Given the description of an element on the screen output the (x, y) to click on. 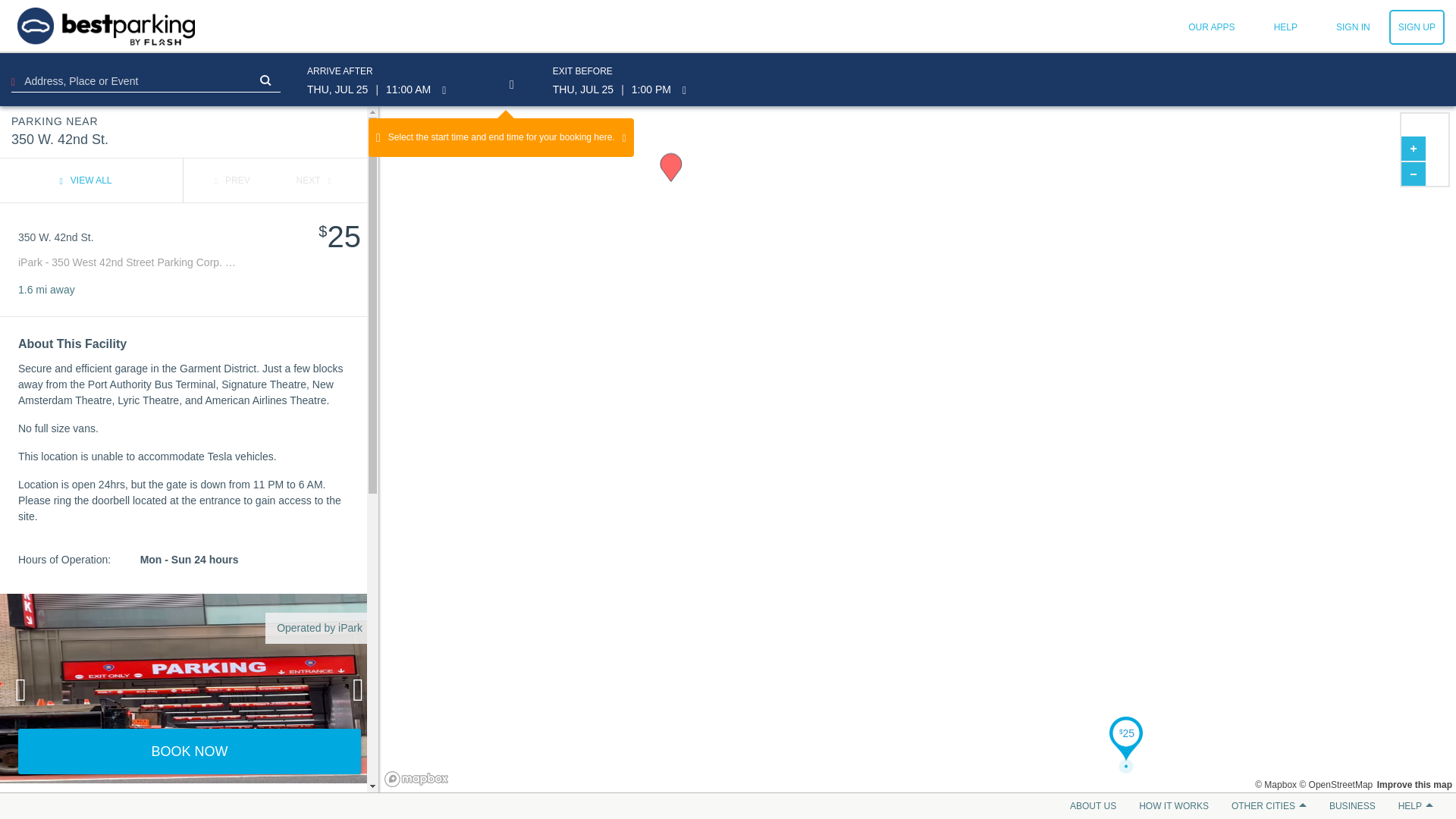
VIEW ALL (84, 180)
SIGN IN (1352, 27)
PREV (231, 180)
OUR APPS (1210, 27)
BestParking (105, 26)
Improve this map (1414, 784)
Zoom out (1412, 173)
Help (1285, 27)
Improve this map (1414, 784)
HELP (1285, 27)
Mapbox (1276, 784)
Zoom in (1412, 148)
OpenStreetMap (1335, 784)
Log In (1352, 27)
Sign Up (1416, 27)
